Given the description of an element on the screen output the (x, y) to click on. 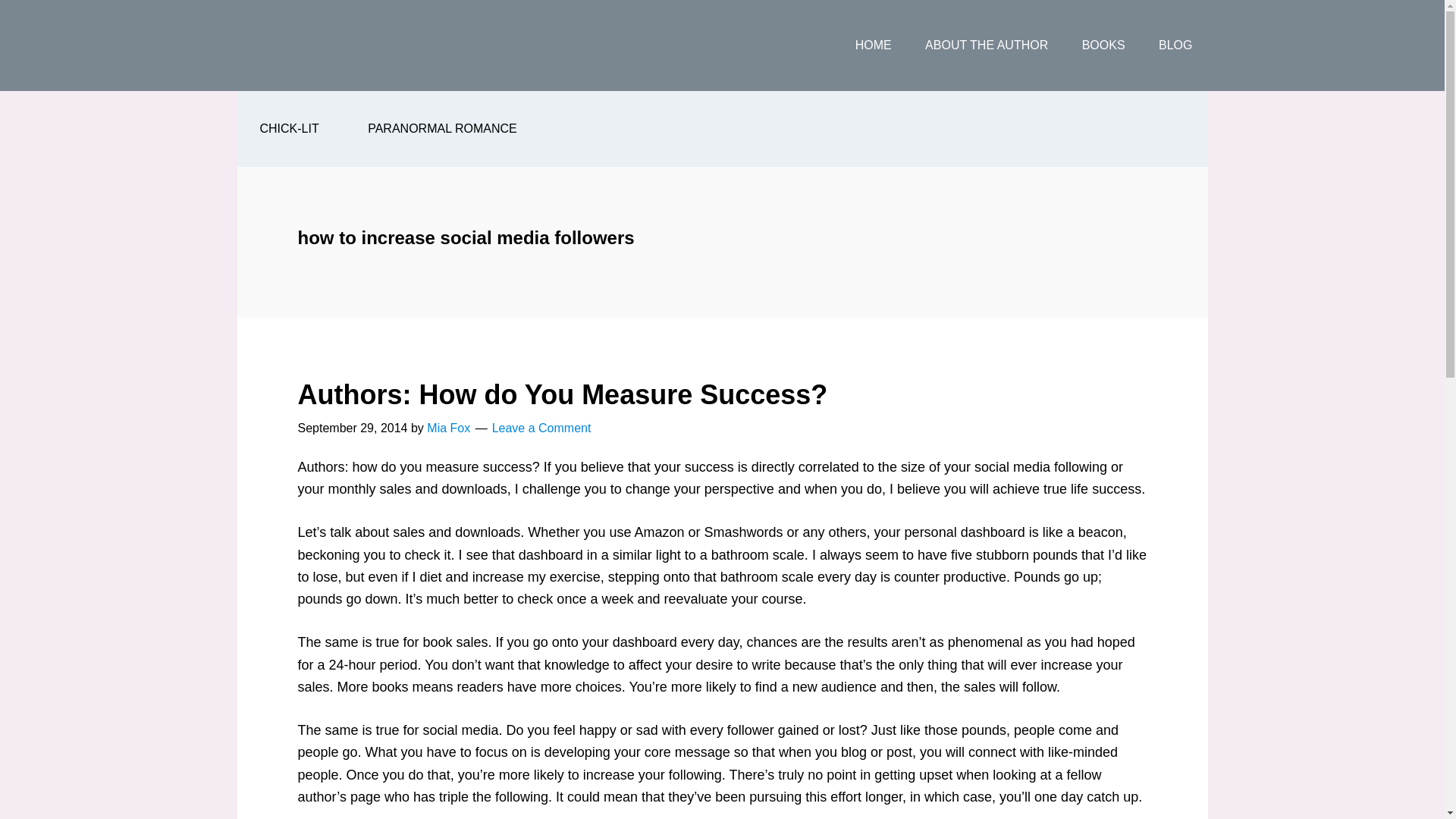
PARANORMAL ROMANCE (441, 128)
Leave a Comment (541, 427)
CHICK-LIT (287, 128)
Authors: How do You Measure Success? (562, 394)
ABOUT THE AUTHOR (986, 45)
Mia Fox (448, 427)
